Given the description of an element on the screen output the (x, y) to click on. 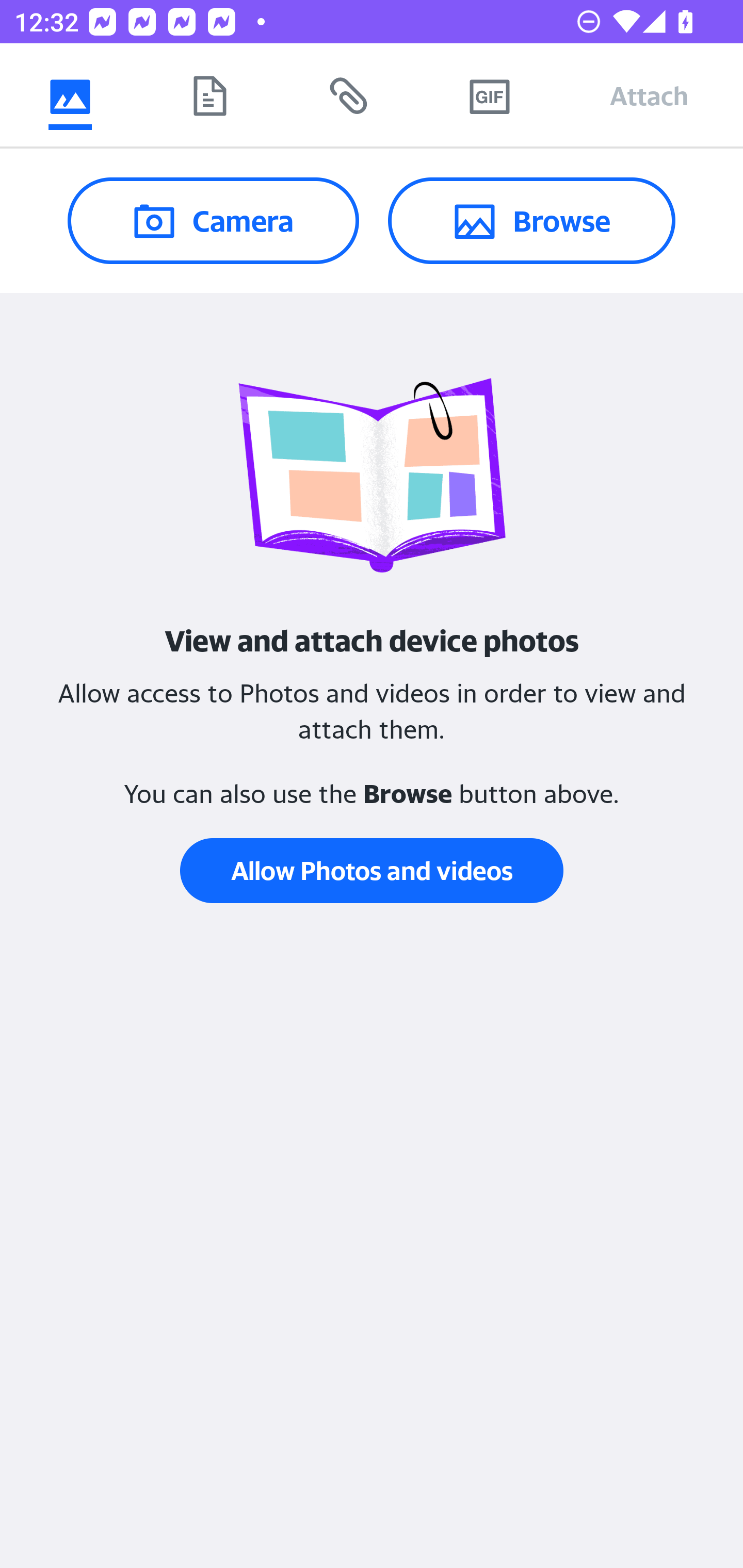
Camera photos (69, 95)
Device files (209, 95)
Recent attachments from mail (349, 95)
GIFs (489, 95)
Attach (649, 95)
Camera (212, 220)
Browse (531, 220)
Allow Photos and videos (371, 870)
